Given the description of an element on the screen output the (x, y) to click on. 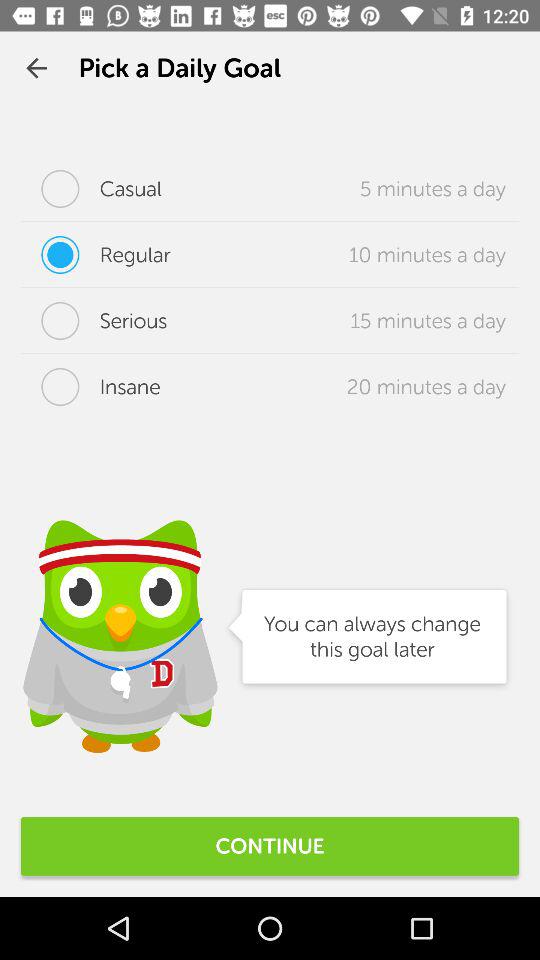
flip until the casual item (91, 188)
